Given the description of an element on the screen output the (x, y) to click on. 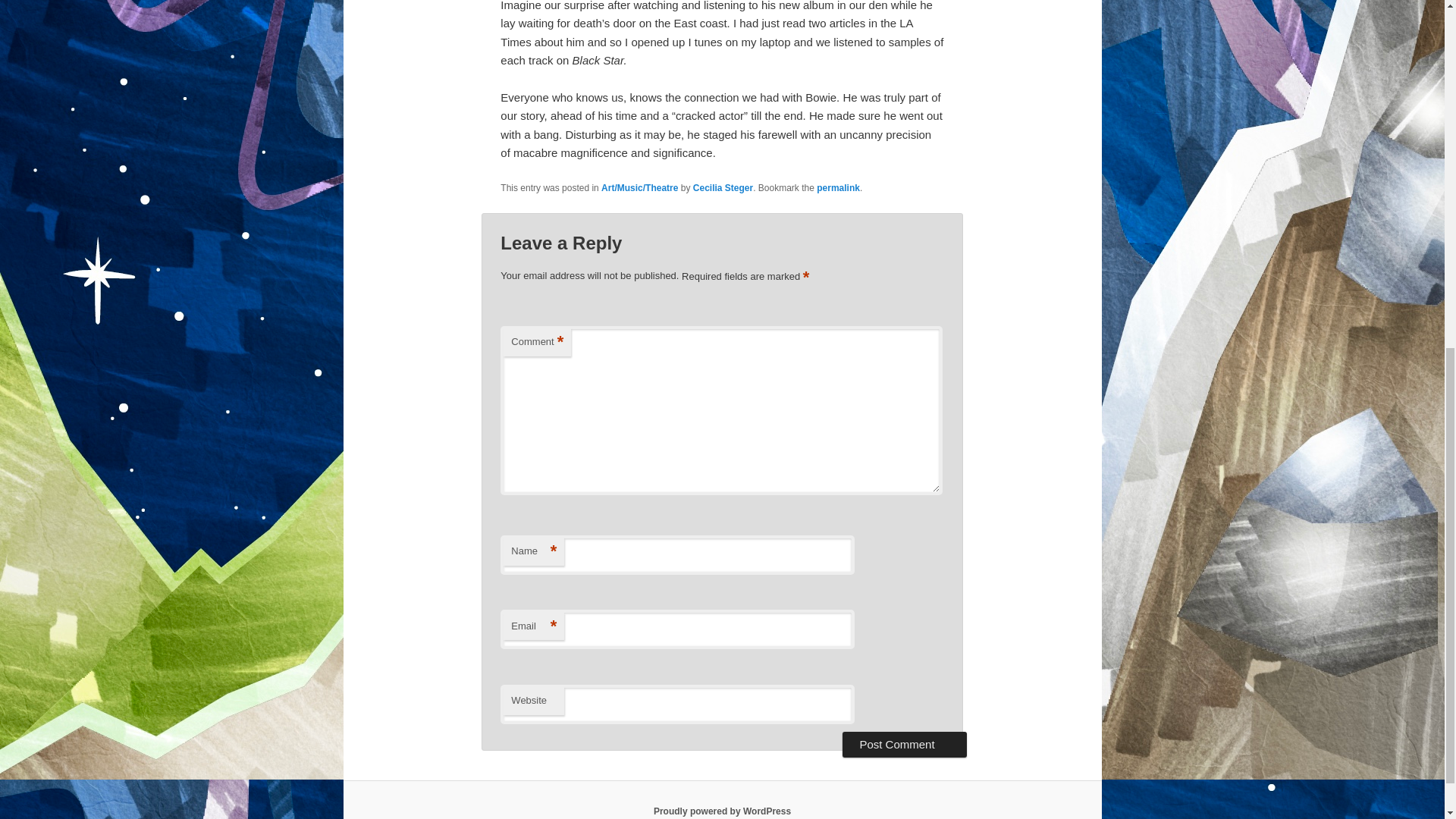
Semantic Personal Publishing Platform (721, 810)
Post Comment (904, 744)
Proudly powered by WordPress (721, 810)
Post Comment (904, 744)
Cecilia Steger (722, 187)
permalink (838, 187)
